Given the description of an element on the screen output the (x, y) to click on. 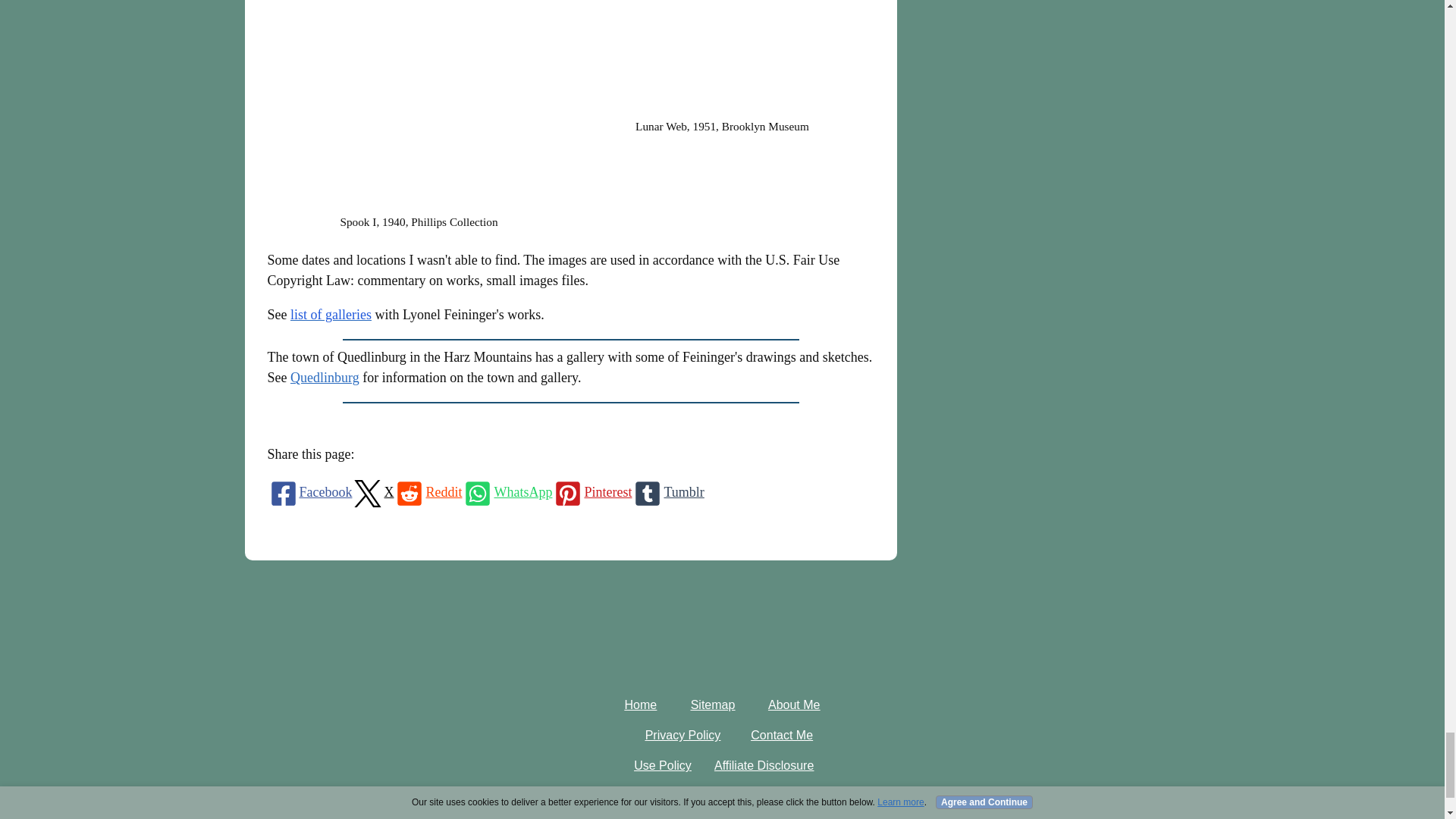
list of galleries (330, 314)
Tumblr (667, 492)
Pinterest (591, 492)
Facebook (309, 492)
X (372, 492)
WhatsApp (506, 492)
Quedlinburg (324, 377)
Reddit (427, 492)
